Given the description of an element on the screen output the (x, y) to click on. 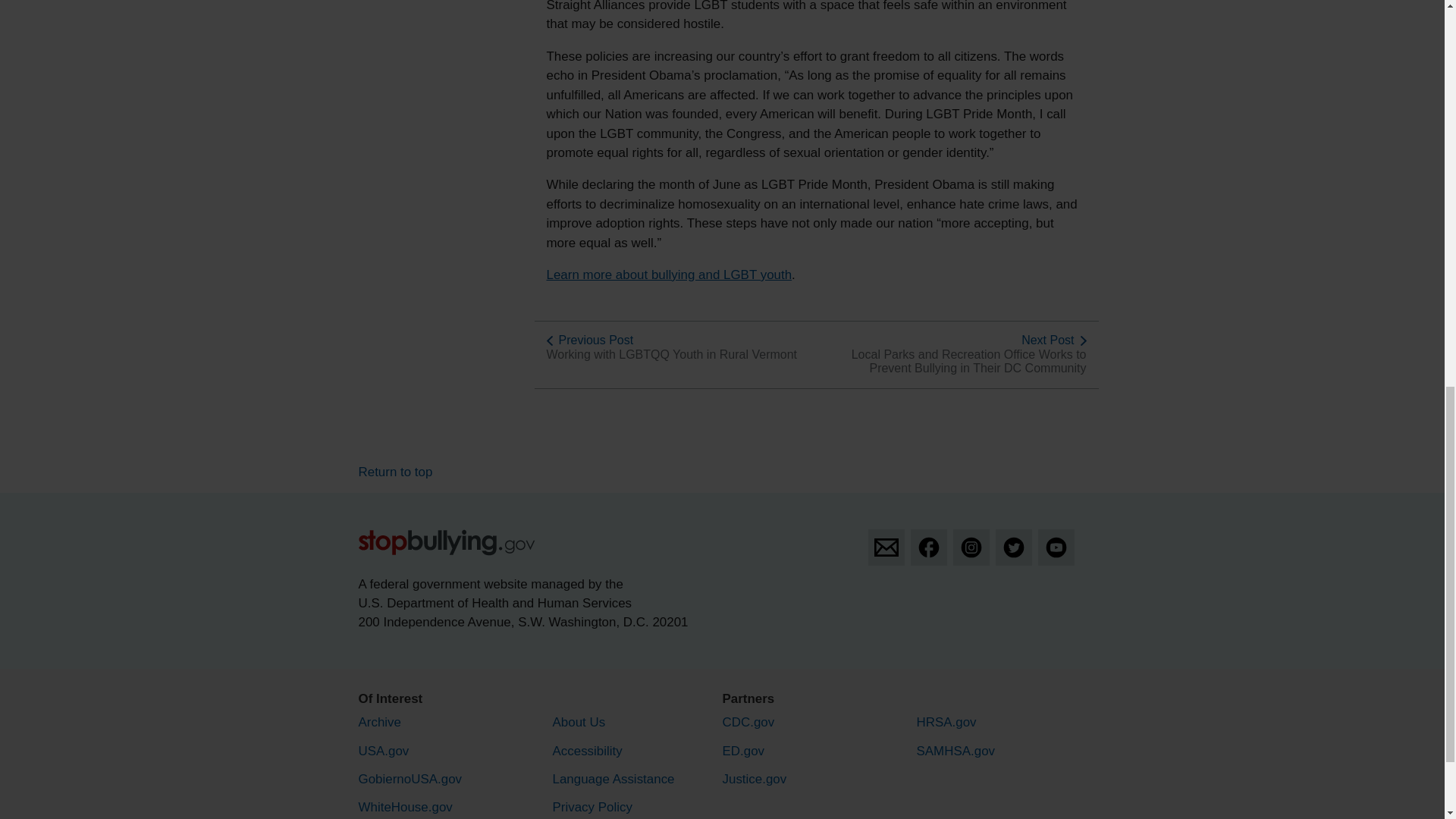
Working with LGBTQQ Youth in Rural Vermont (671, 354)
Previous Post (595, 339)
Learn more about bullying and LGBT youth (669, 274)
